Given the description of an element on the screen output the (x, y) to click on. 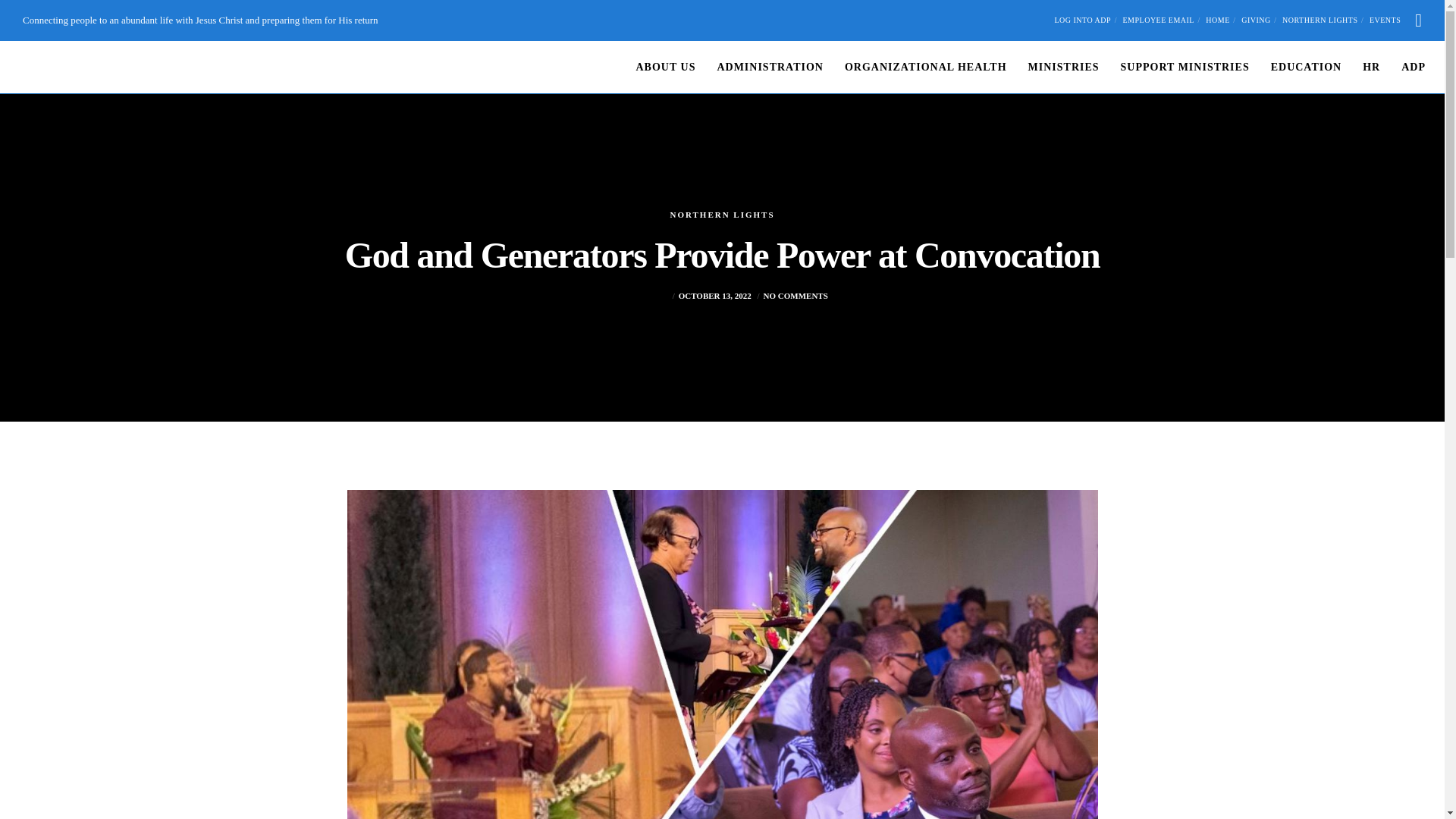
ORGANIZATIONAL HEALTH (915, 67)
ABOUT US (654, 67)
GIVING (1256, 19)
NORTHERN LIGHTS (1319, 19)
EMPLOYEE EMAIL (1157, 19)
MINISTRIES (1053, 67)
HOME (1216, 19)
LOG INTO ADP (1082, 19)
EVENTS (1385, 19)
ADMINISTRATION (759, 67)
